Given the description of an element on the screen output the (x, y) to click on. 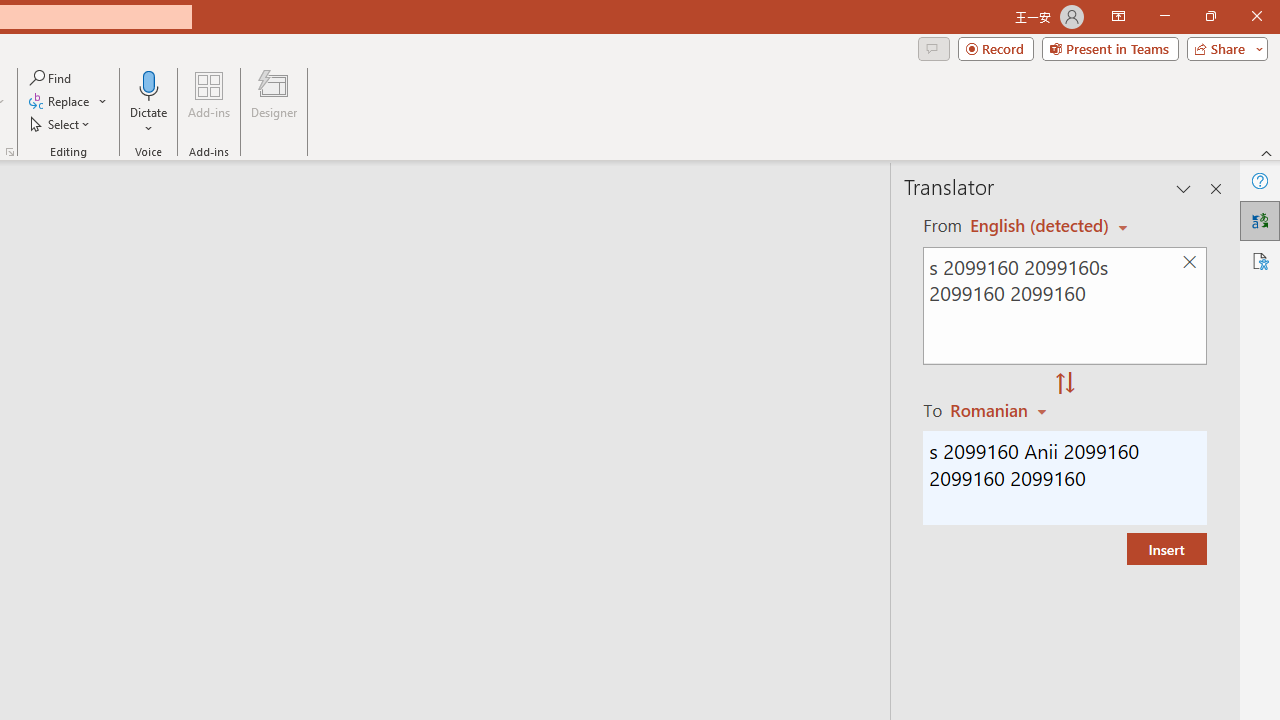
Swap "from" and "to" languages. (1065, 383)
Romanian (1001, 409)
